Given the description of an element on the screen output the (x, y) to click on. 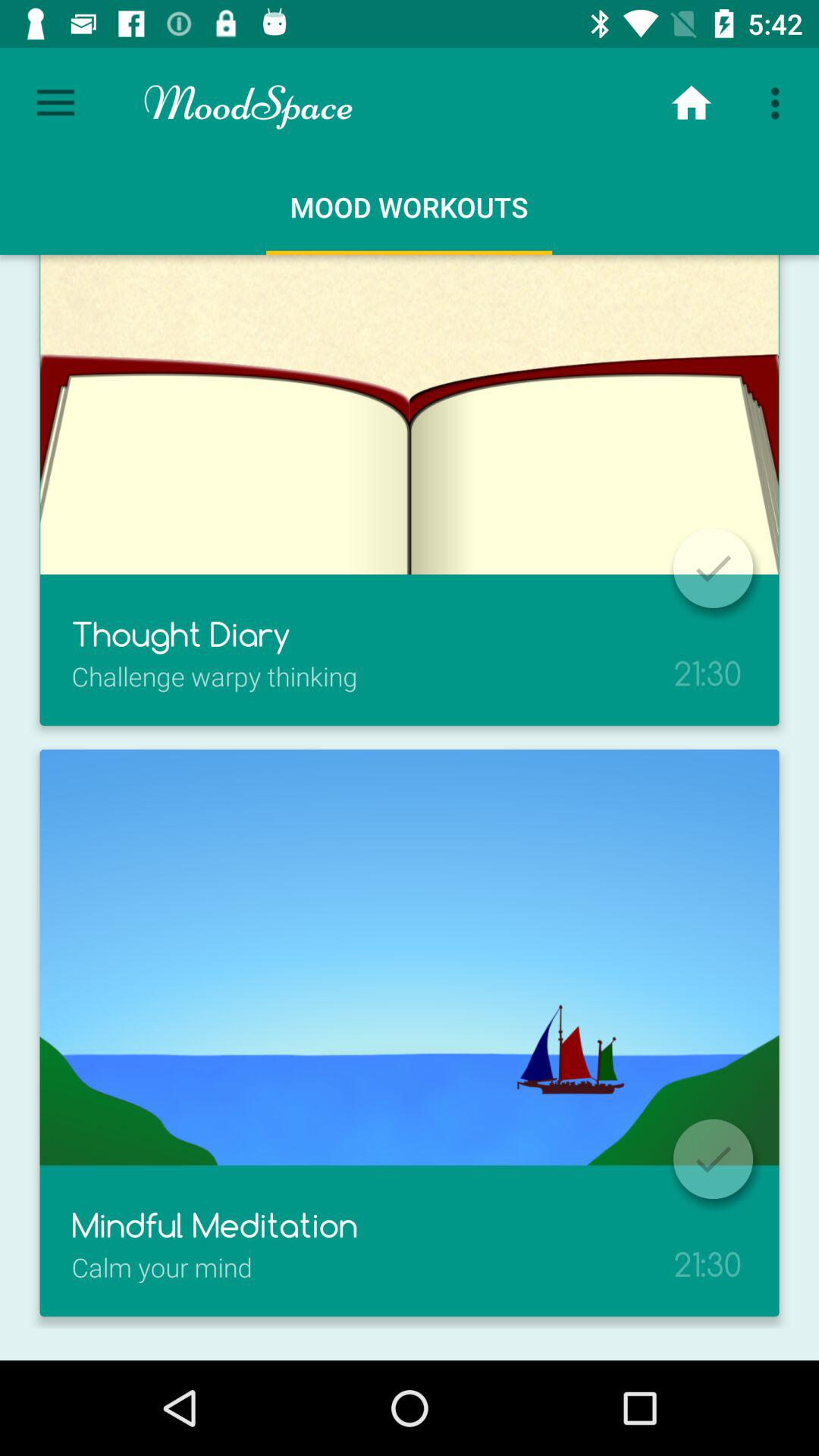
mark as done (713, 568)
